Given the description of an element on the screen output the (x, y) to click on. 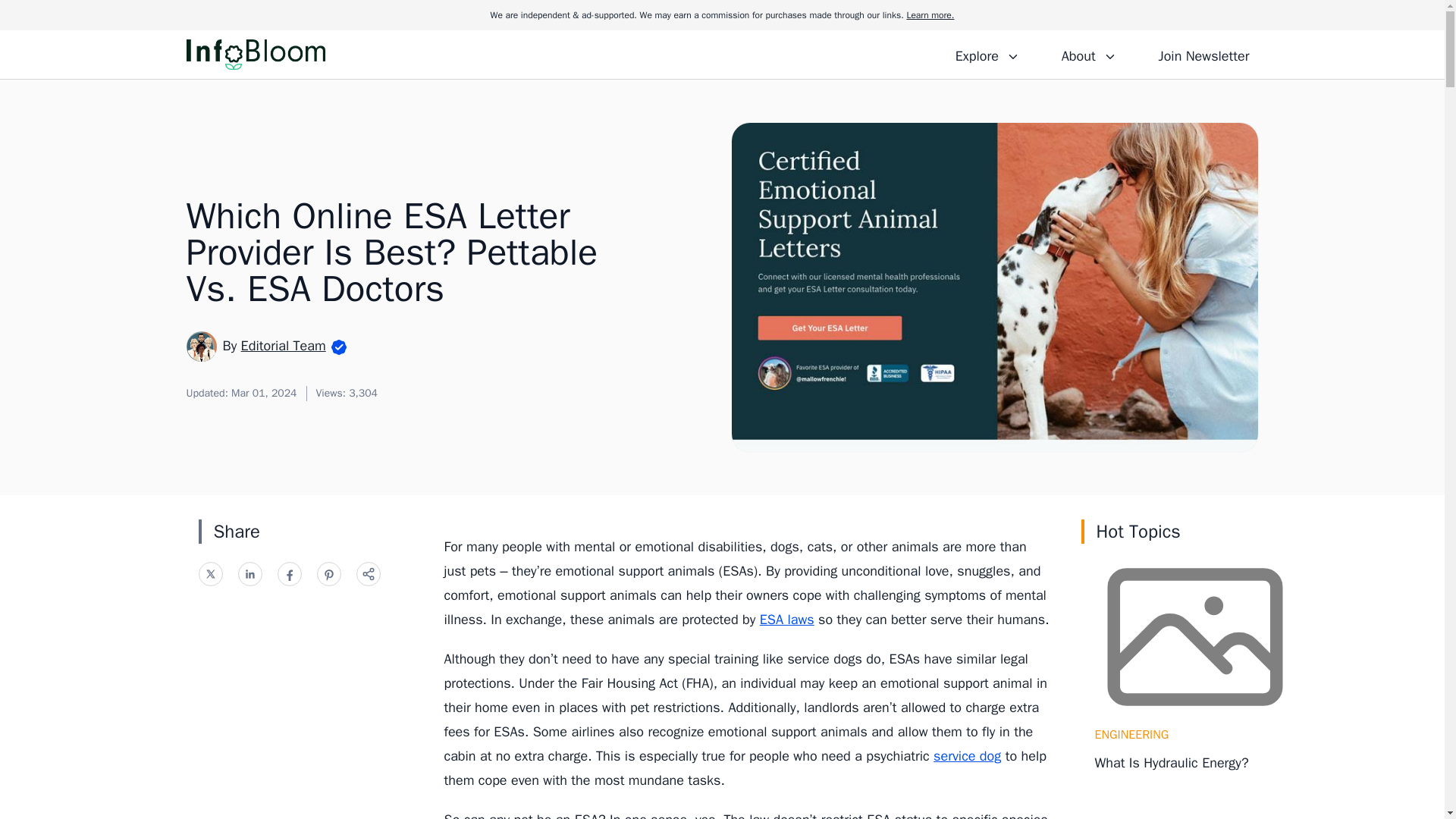
Join Newsletter (1202, 54)
service dog (967, 755)
About (1088, 54)
Learn more. (929, 15)
Explore (986, 54)
ESA laws (786, 619)
Editorial Team (283, 345)
